Given the description of an element on the screen output the (x, y) to click on. 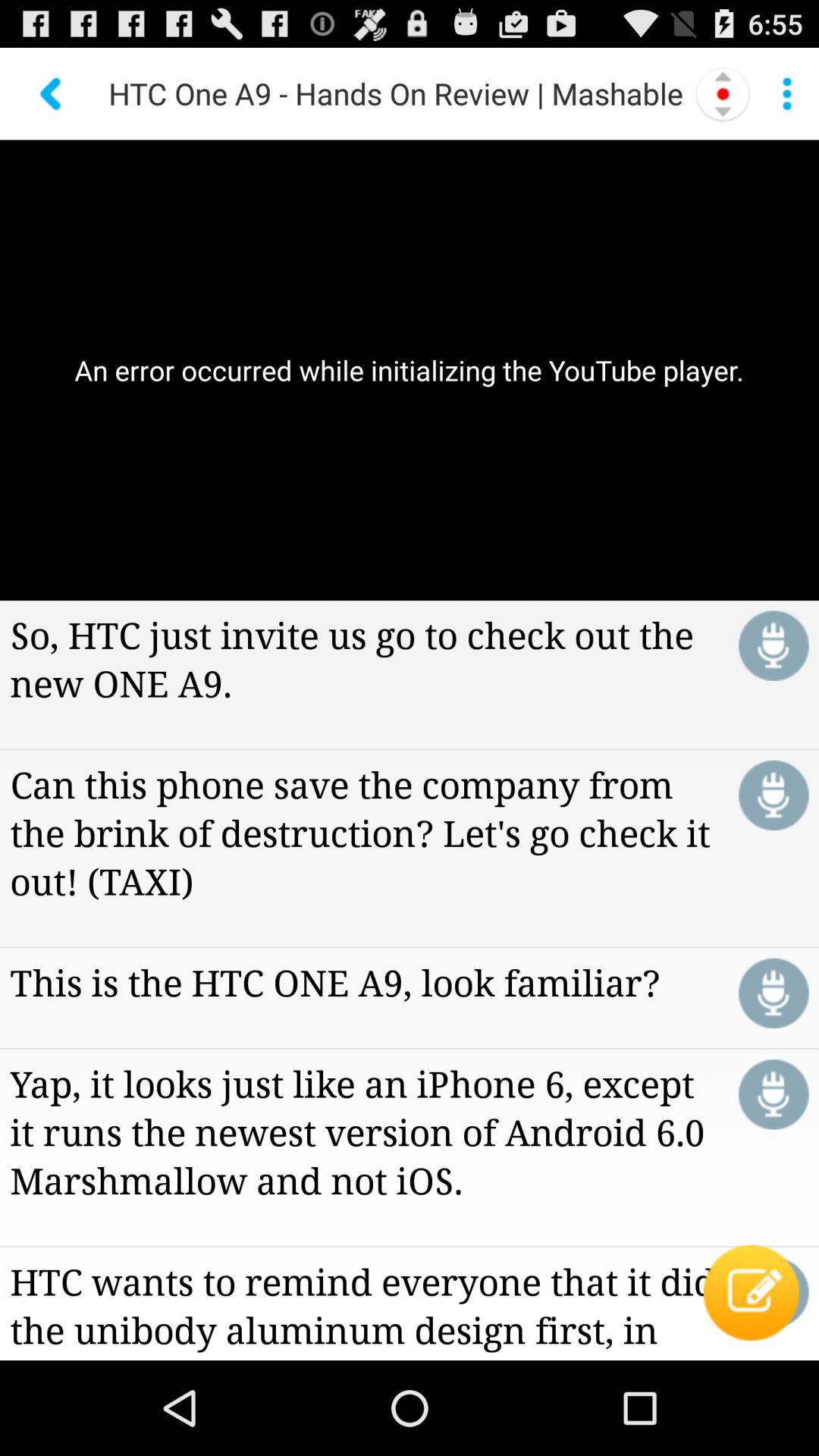
switch to listen (773, 795)
